Given the description of an element on the screen output the (x, y) to click on. 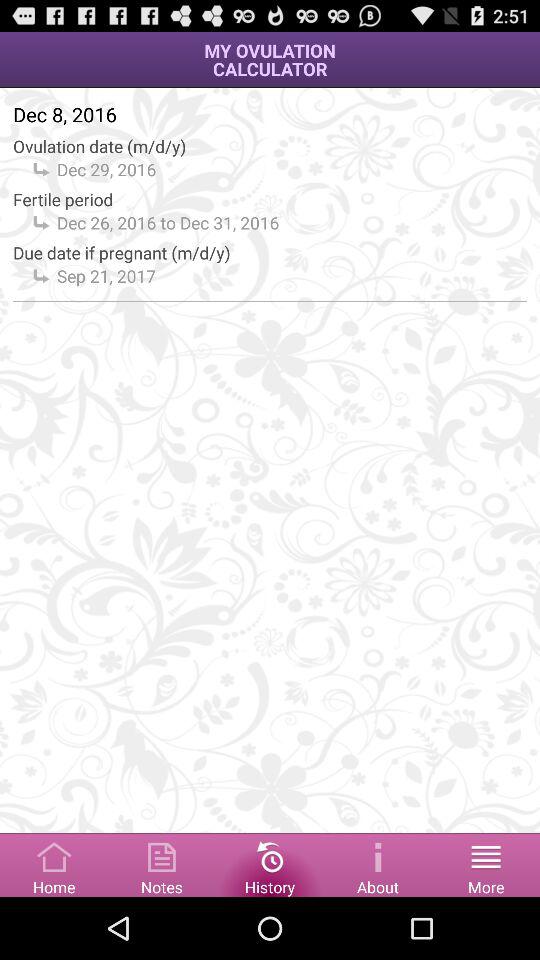
option to select notes (162, 864)
